Given the description of an element on the screen output the (x, y) to click on. 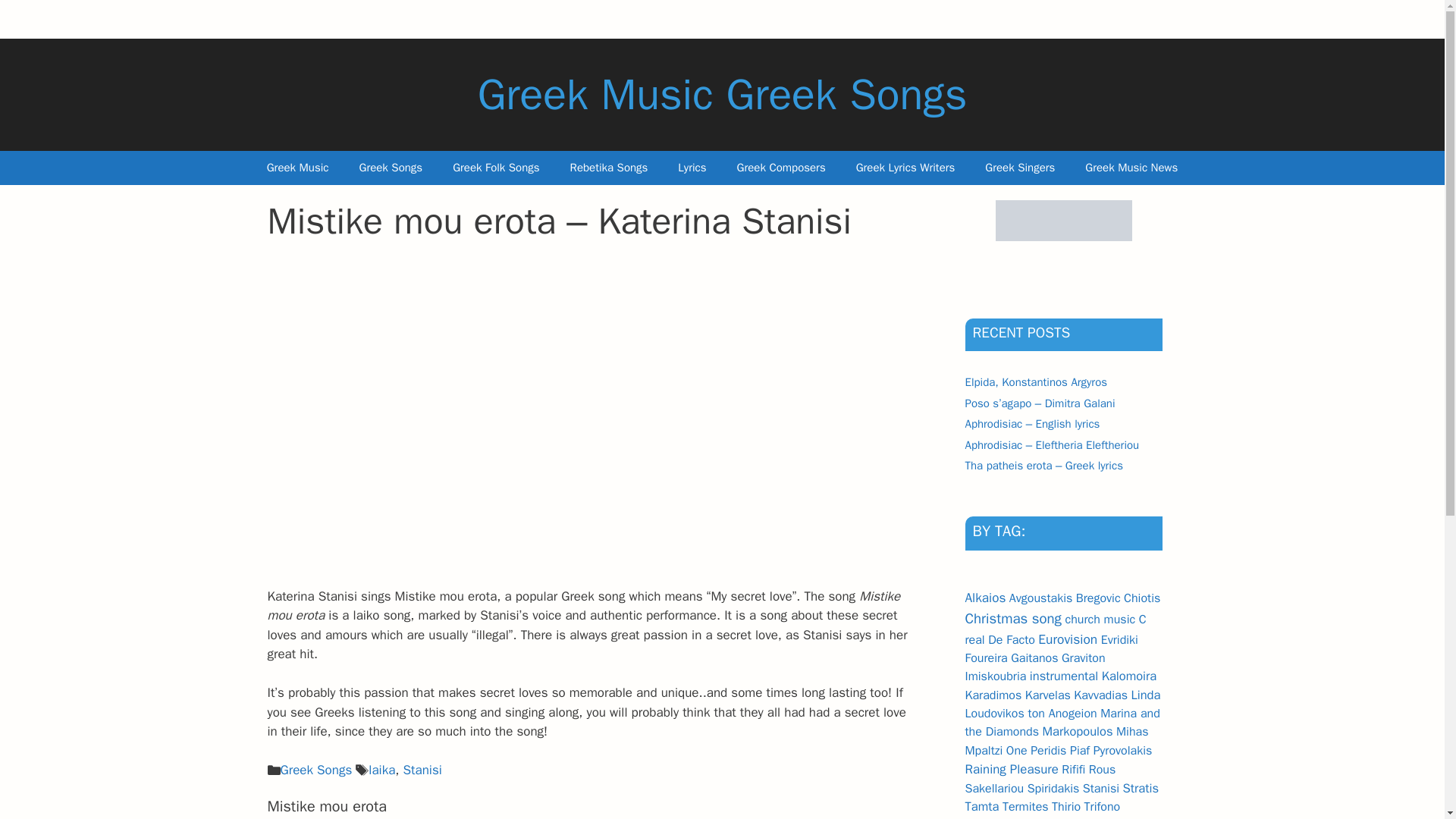
Lyrics (691, 167)
Greek Singers (1019, 167)
Alkaios (984, 597)
Elpida, Konstantinos Argyros (1034, 382)
Greek Music News (1131, 167)
Greek Lyrics Writers (906, 167)
Greek Music Greek Songs (722, 94)
Greek Songs (390, 167)
Avgoustakis (1040, 598)
laika (381, 770)
Greek Folk Songs (496, 167)
Chiotis (1142, 598)
Greek Music (297, 167)
Greek Composers (781, 167)
Rebetika Songs (608, 167)
